Given the description of an element on the screen output the (x, y) to click on. 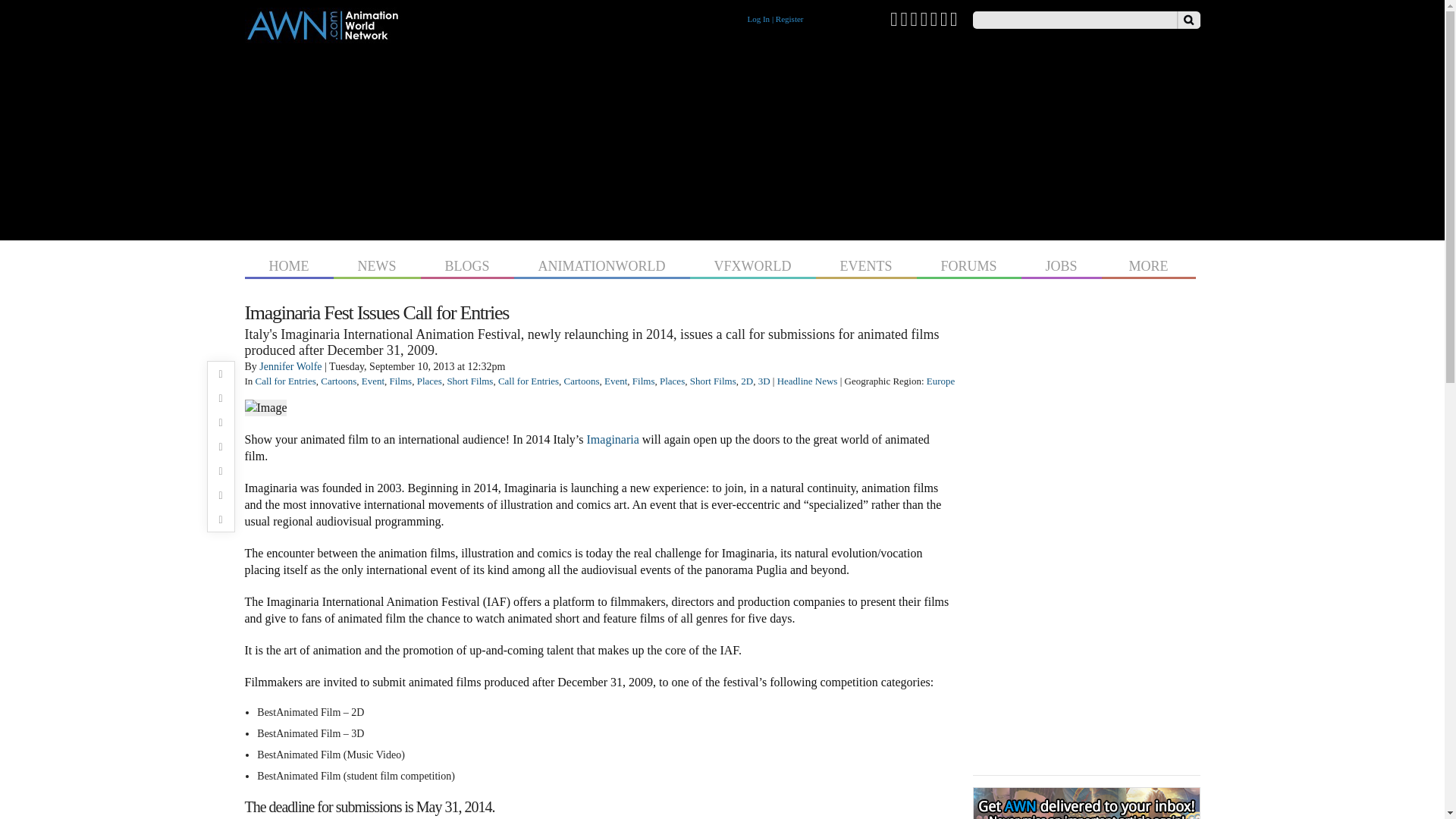
NEWS (376, 263)
VFXWORLD (752, 263)
Search (1187, 19)
BLOGS (466, 263)
Enter the terms you wish to search for. (1074, 19)
Register (789, 18)
JOBS (1062, 263)
MORE (1148, 263)
Animation World Network (321, 35)
3rd party ad content (722, 137)
Skip to main content (693, 1)
Log In (758, 18)
Event (372, 380)
Jennifer Wolfe (290, 366)
Short Films (469, 380)
